Given the description of an element on the screen output the (x, y) to click on. 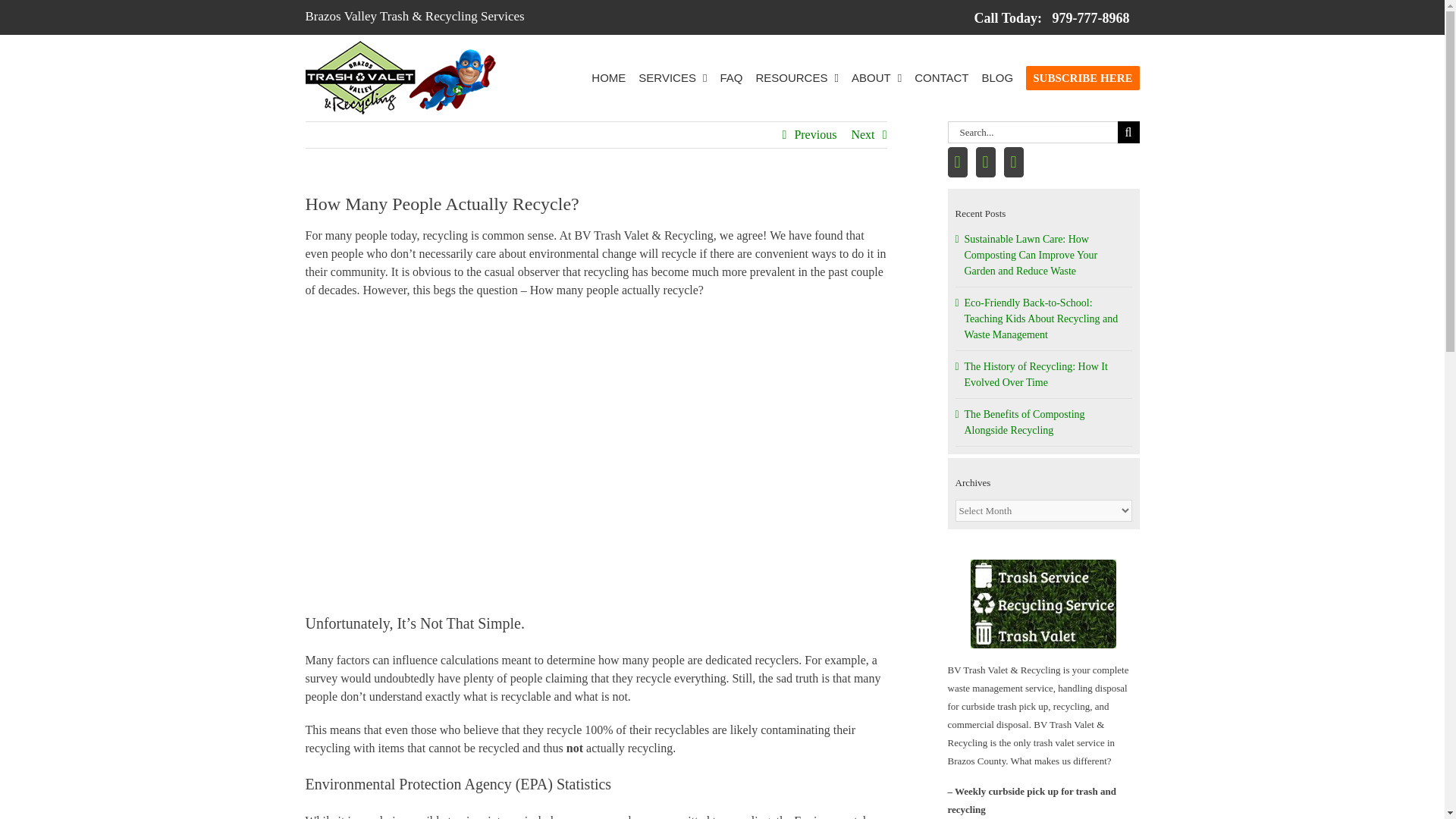
Previous (814, 135)
SUBSCRIBE HERE (1082, 77)
RESOURCES (796, 77)
Call Today:   979-777-8968 (1050, 16)
Next (862, 135)
